Given the description of an element on the screen output the (x, y) to click on. 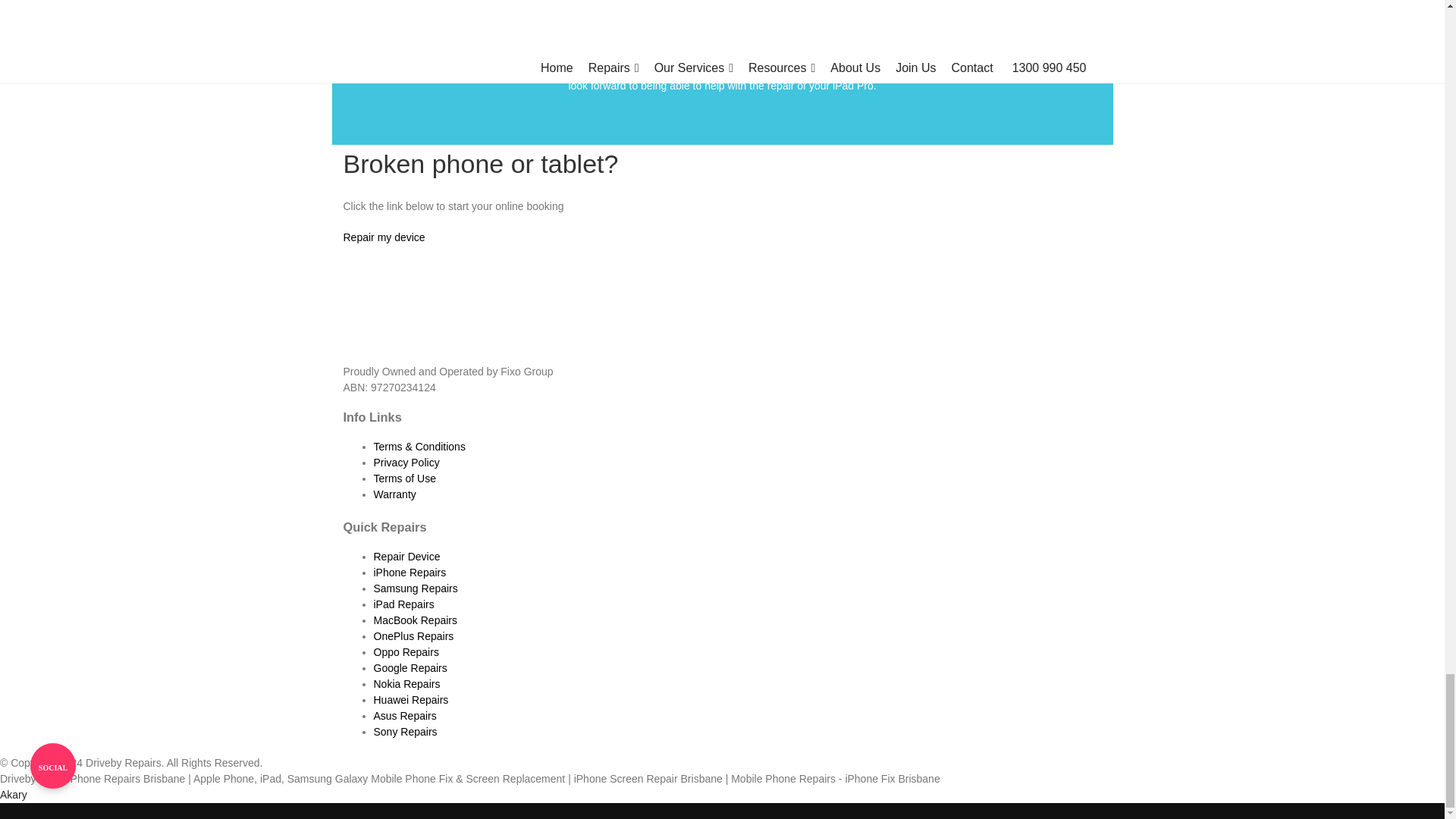
Driveby - Smart Phone Repairs (456, 302)
